Given the description of an element on the screen output the (x, y) to click on. 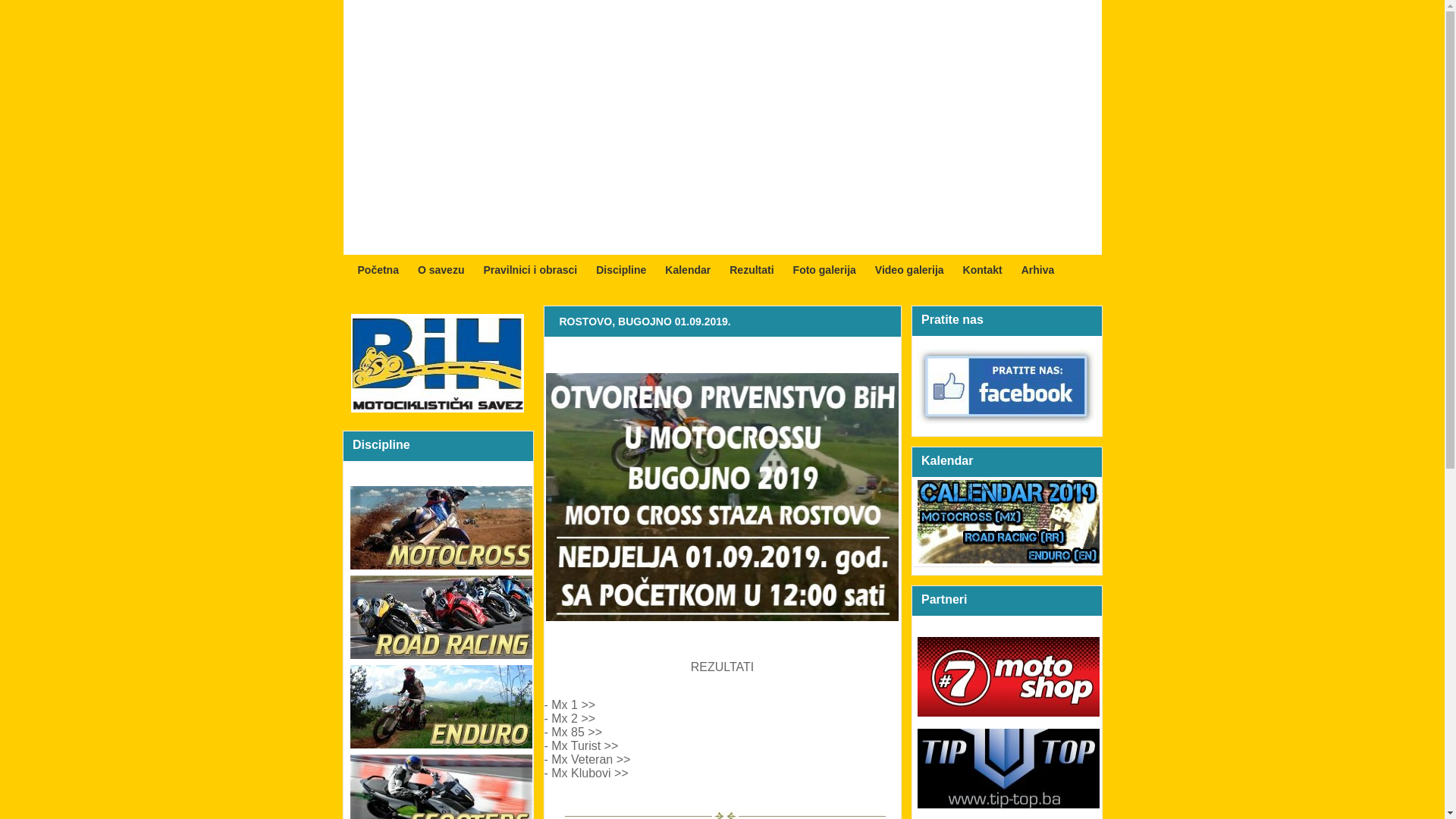
Video galerija Element type: text (909, 269)
Arhiva Element type: text (1037, 269)
- Mx 1 >> Element type: text (570, 704)
ROSTOVO, BUGOJNO 01.09.2019. Element type: text (645, 321)
- Mx 85 >> Element type: text (573, 731)
Discipline Element type: text (620, 269)
- Mx Klubovi >> Element type: text (586, 772)
O savezu Element type: text (440, 269)
Kalendar Element type: text (687, 269)
Pravilnici i obrasci Element type: text (529, 269)
- Mx 2 >> Element type: text (570, 718)
Foto galerija Element type: text (824, 269)
- Mx Veteran >> Element type: text (587, 759)
- Mx Turist >> Element type: text (581, 745)
Kontakt Element type: text (982, 269)
Rezultati Element type: text (751, 269)
